Given the description of an element on the screen output the (x, y) to click on. 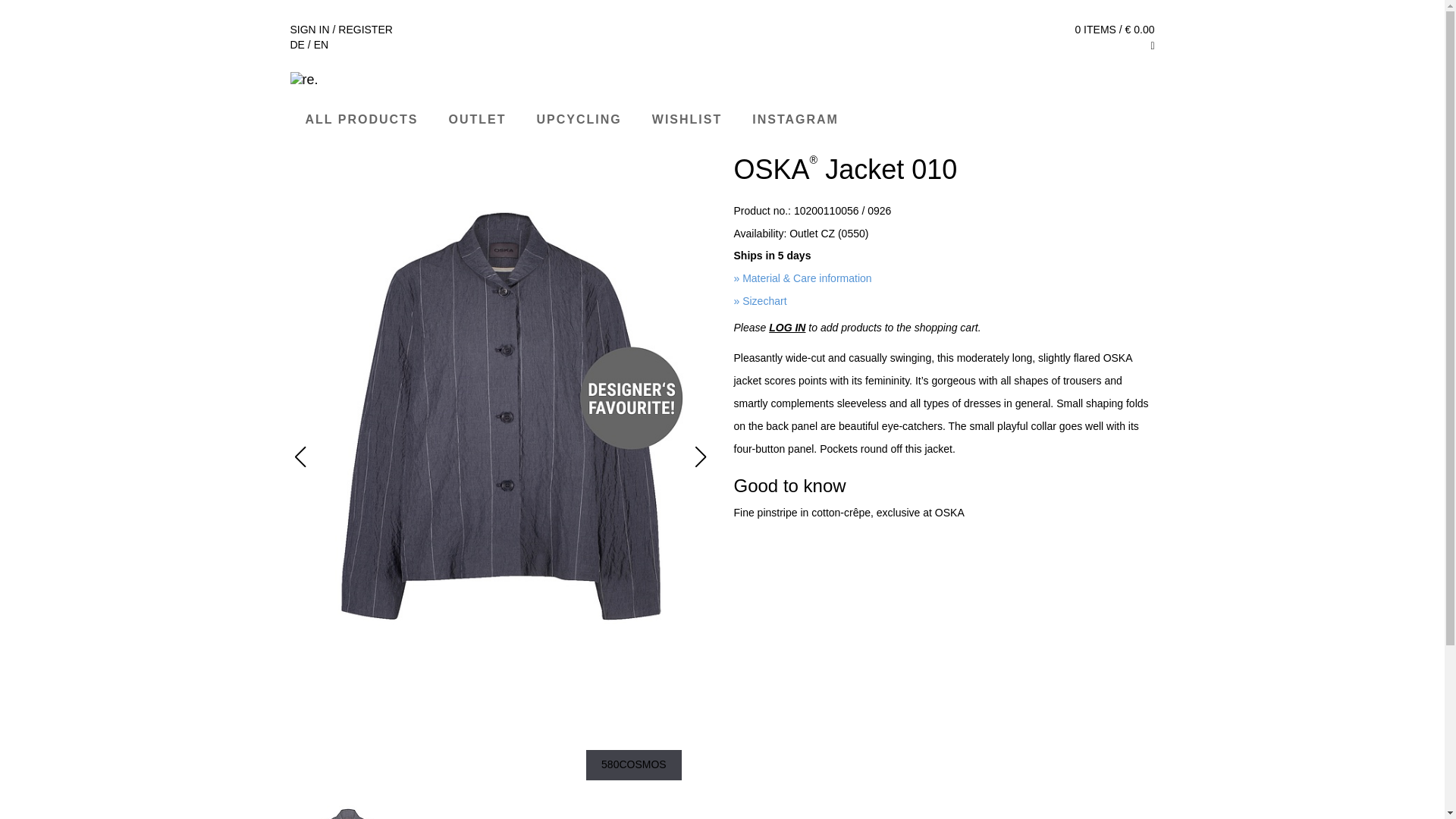
EN (321, 44)
INSTAGRAM (795, 120)
DE (296, 44)
OUTLET (477, 118)
REGISTER (365, 29)
re. (721, 79)
WISHLIST (687, 120)
ALL PRODUCTS (360, 120)
UPCYCLING (579, 120)
SIGN IN (309, 29)
LOG IN (786, 327)
